Given the description of an element on the screen output the (x, y) to click on. 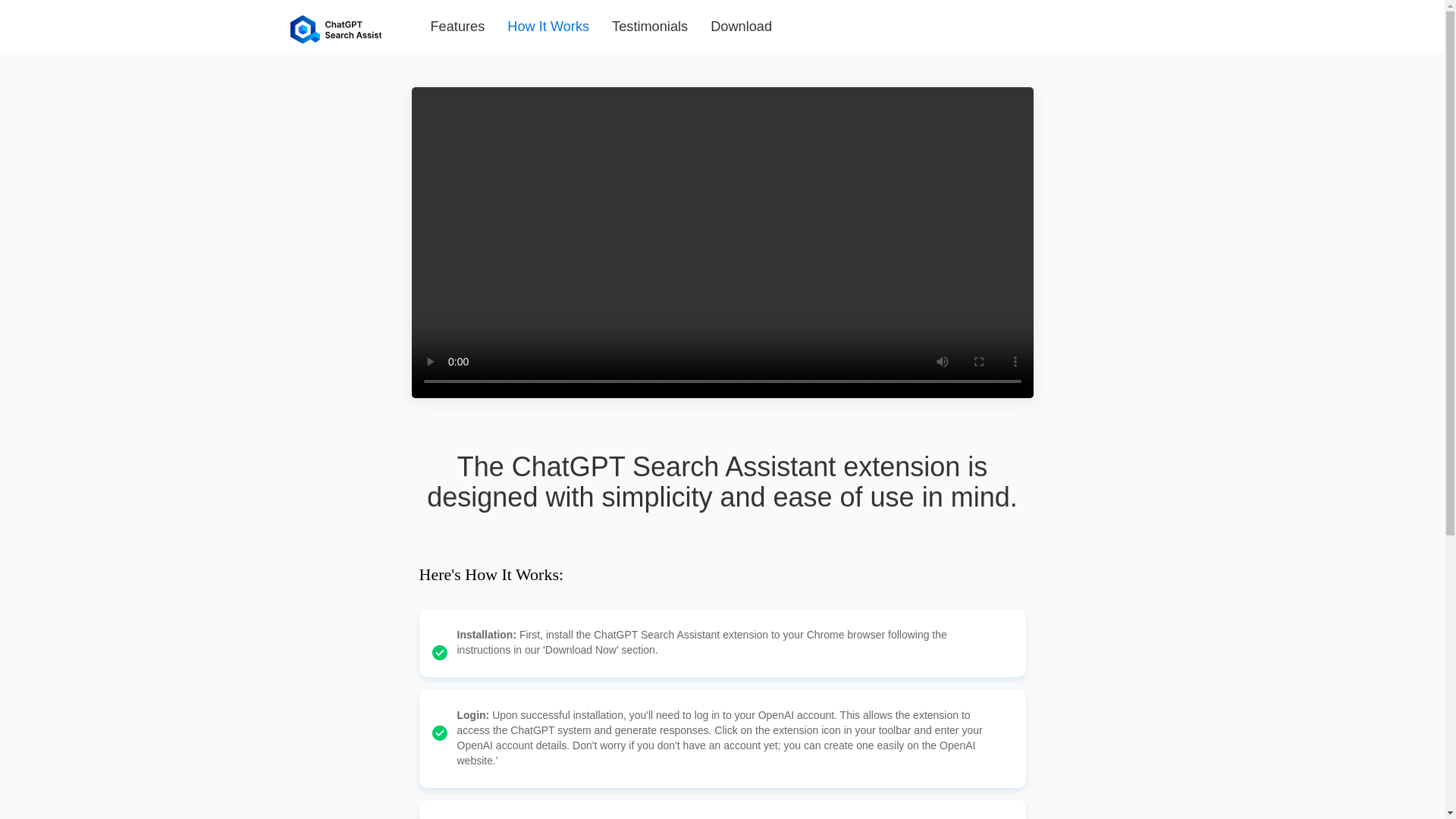
Testimonials (648, 26)
Download (740, 26)
Features (457, 26)
How It Works (547, 26)
